Given the description of an element on the screen output the (x, y) to click on. 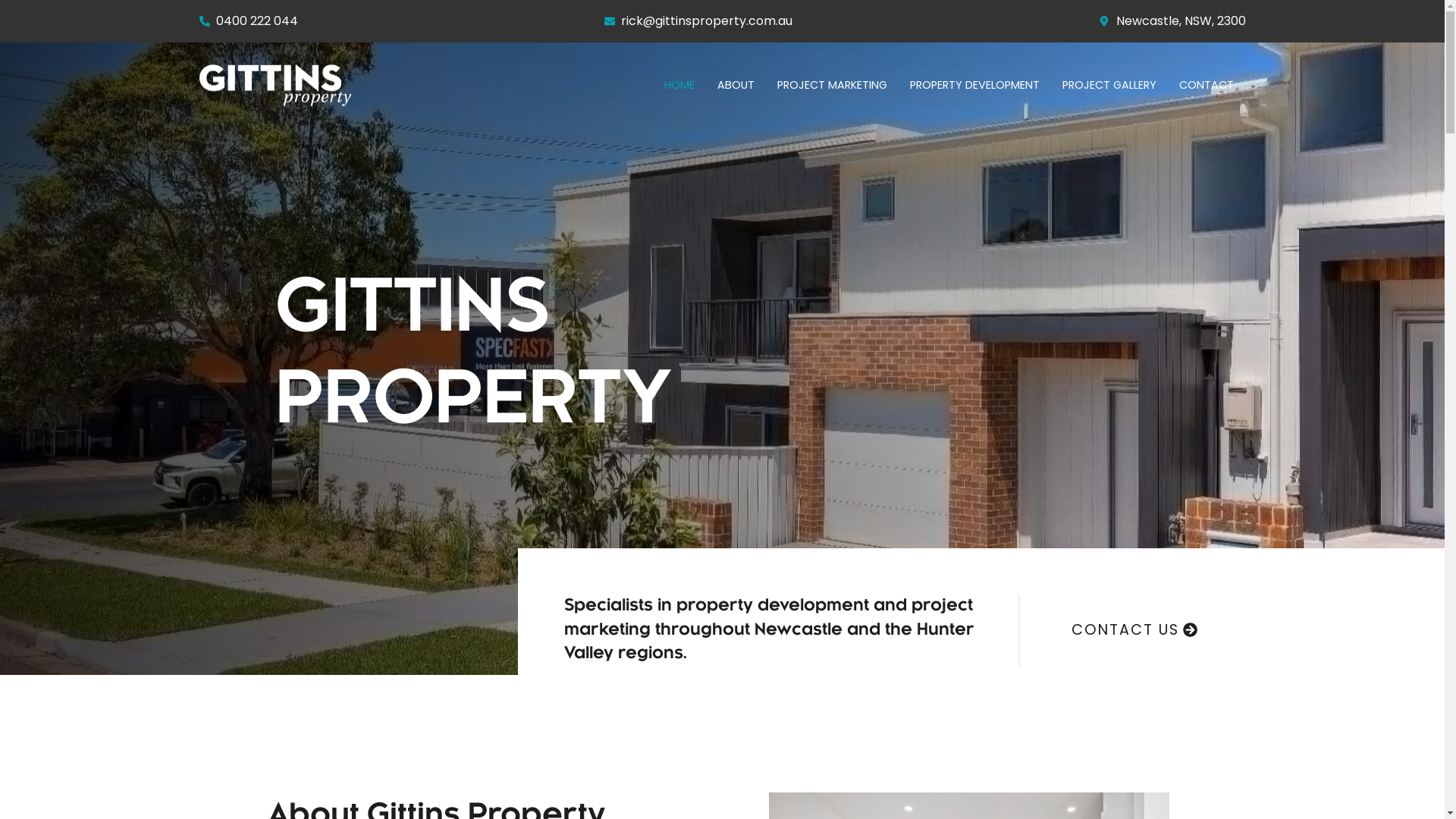
rick@gittinsproperty.com.au Element type: text (698, 20)
PROPERTY DEVELOPMENT Element type: text (974, 84)
CONTACT Element type: text (1206, 84)
0400 222 044 Element type: text (248, 20)
HOME Element type: text (679, 84)
PROJECT GALLERY Element type: text (1109, 84)
CONTACT US Element type: text (1134, 630)
PROJECT MARKETING Element type: text (831, 84)
Newcastle, NSW, 2300 Element type: text (1171, 20)
ABOUT Element type: text (735, 84)
